Given the description of an element on the screen output the (x, y) to click on. 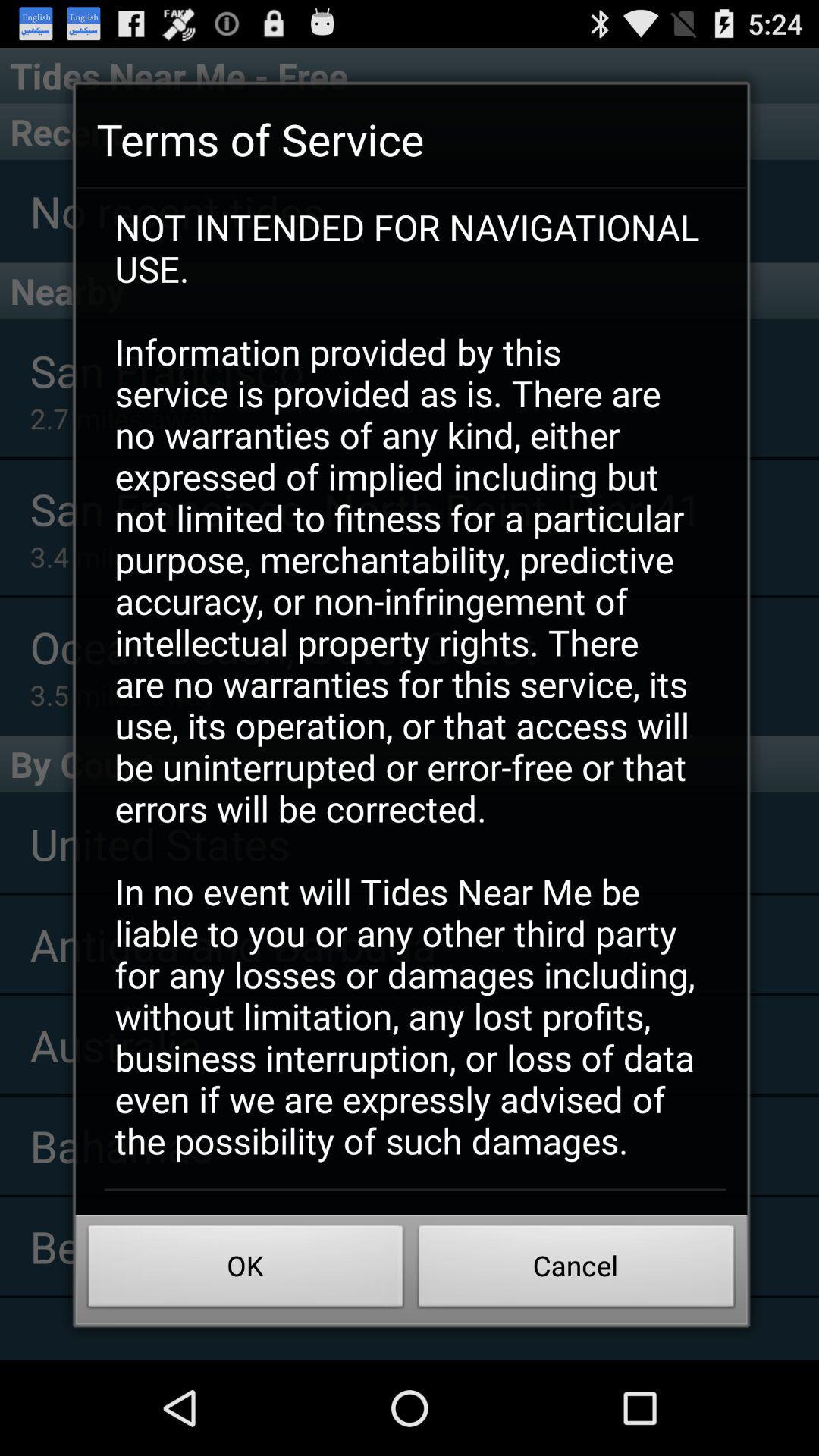
click the item next to ok item (576, 1270)
